Given the description of an element on the screen output the (x, y) to click on. 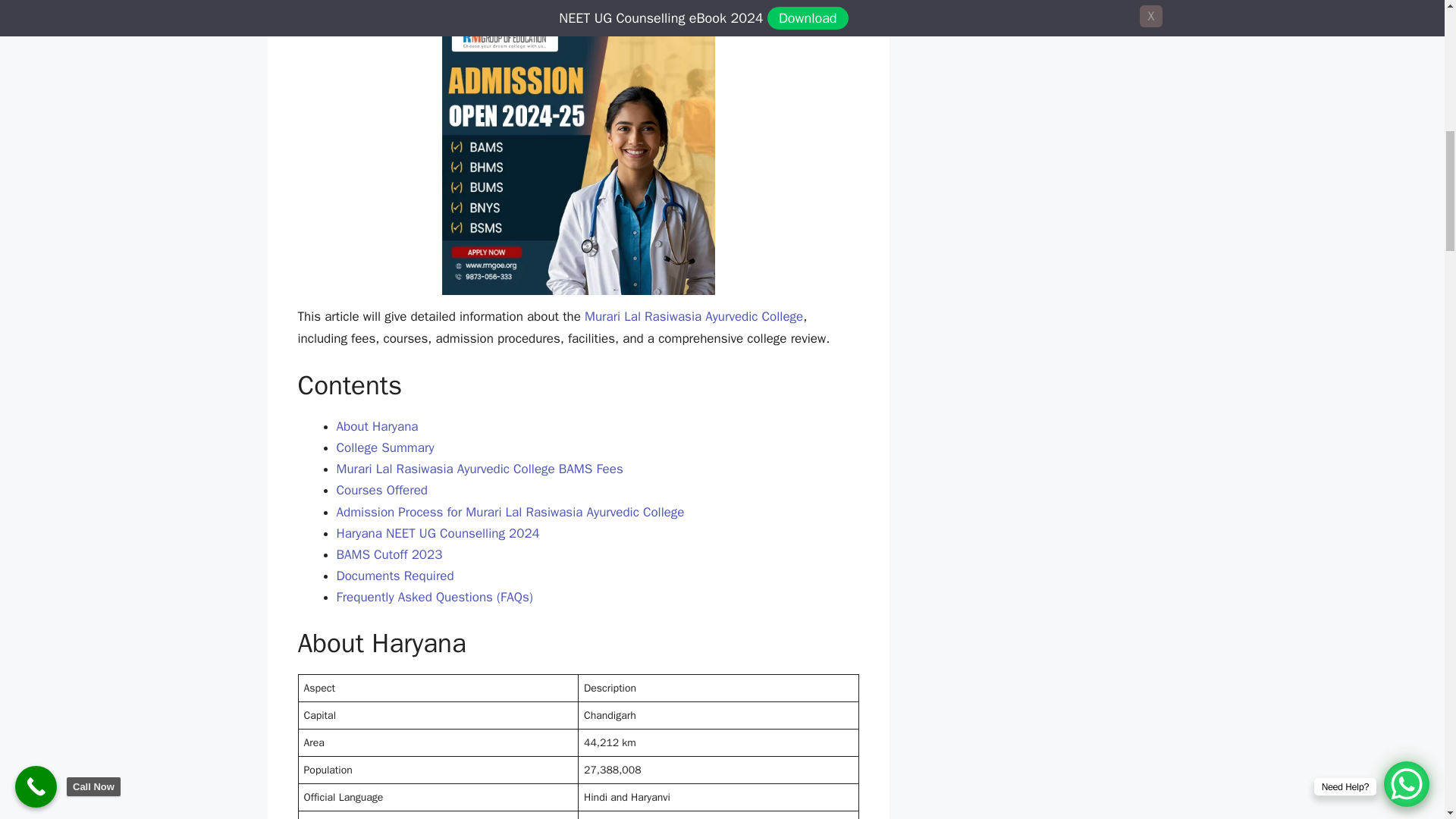
BAMS Cutoff 2023 (389, 554)
Murari Lal Rasiwasia Ayurvedic College (694, 316)
Haryana NEET UG Counselling 2024 (438, 533)
Courses Offered (382, 489)
Murari Lal Rasiwasia Ayurvedic College BAMS Fees (479, 468)
About Haryana (377, 426)
College Summary (384, 447)
Documents Required (395, 575)
Admission Process for Murari Lal Rasiwasia Ayurvedic College (510, 512)
